Given the description of an element on the screen output the (x, y) to click on. 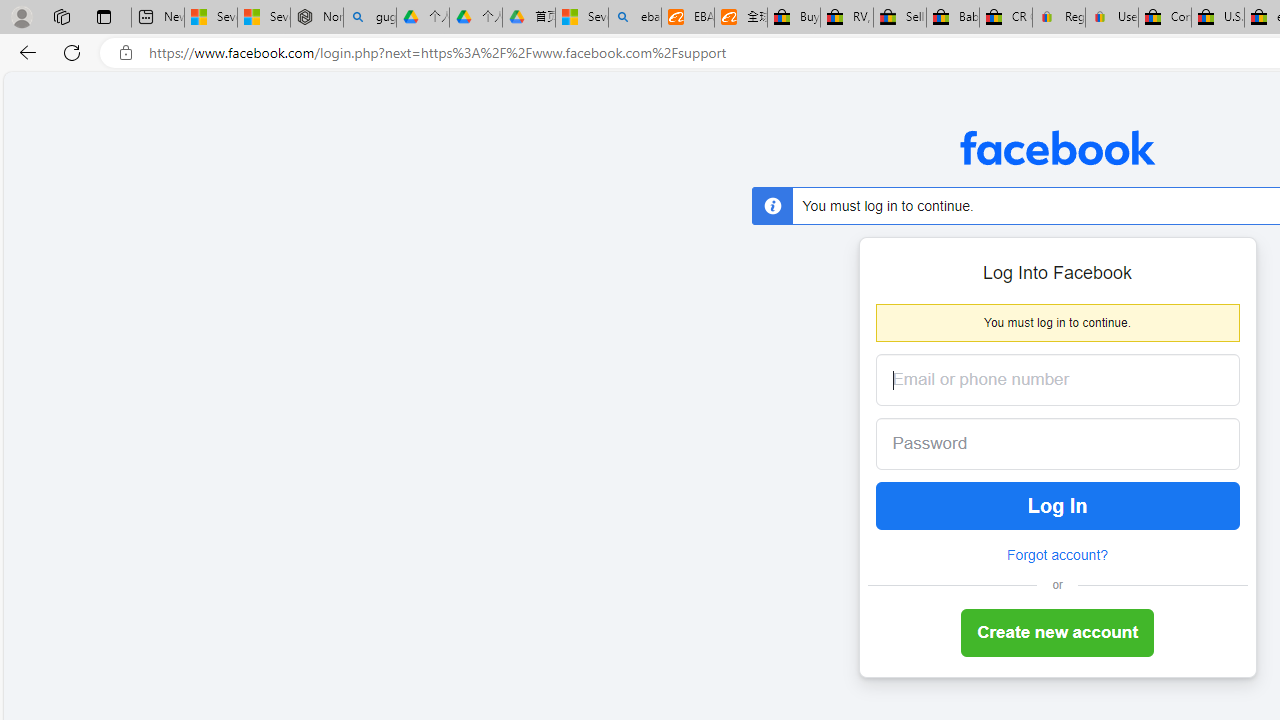
User Privacy Notice | eBay (1111, 17)
Password (1042, 443)
U.S. State Privacy Disclosures - eBay Inc. (1217, 17)
Forgot account? (1057, 555)
